Given the description of an element on the screen output the (x, y) to click on. 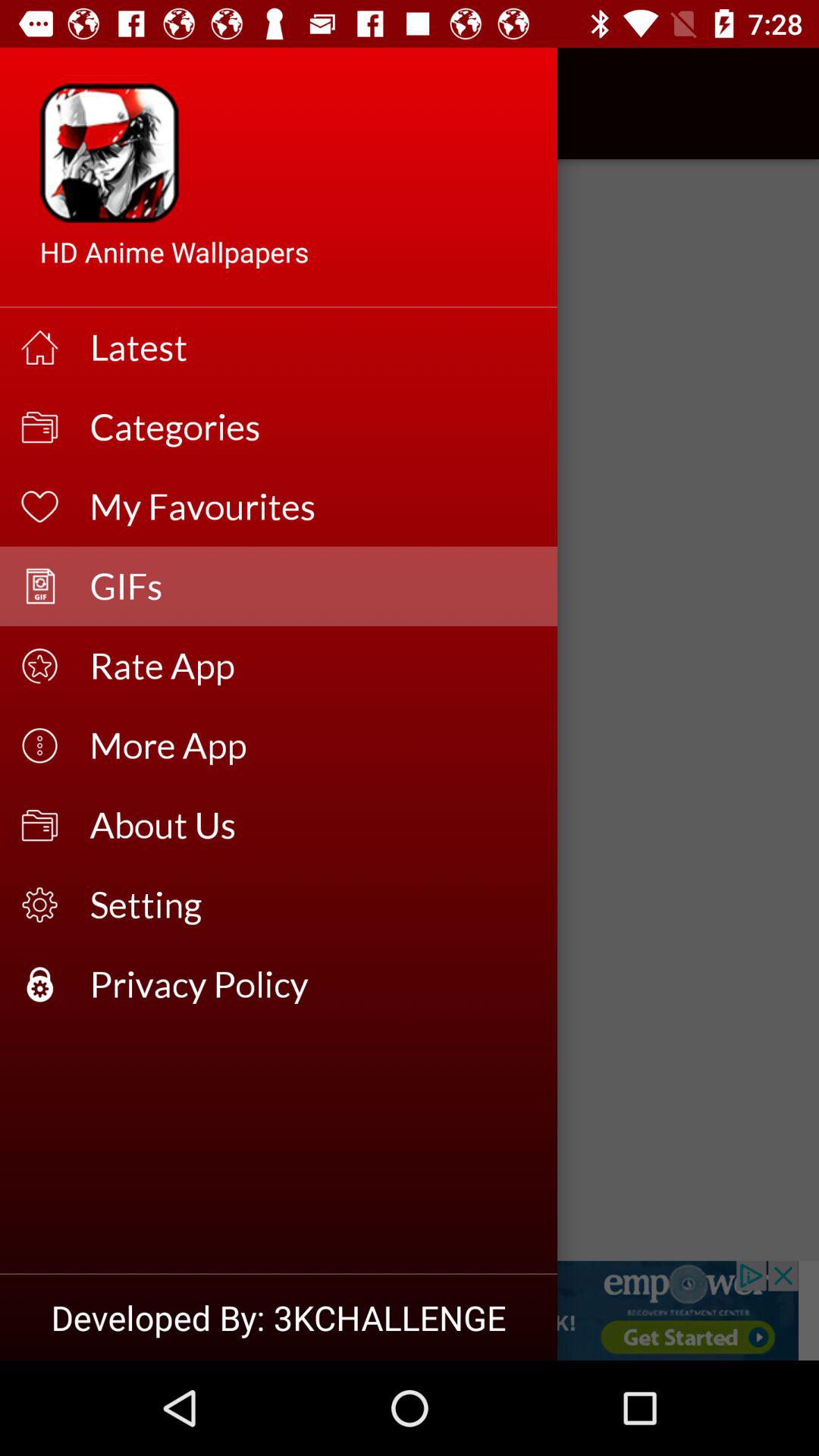
launch the setting icon (313, 904)
